Given the description of an element on the screen output the (x, y) to click on. 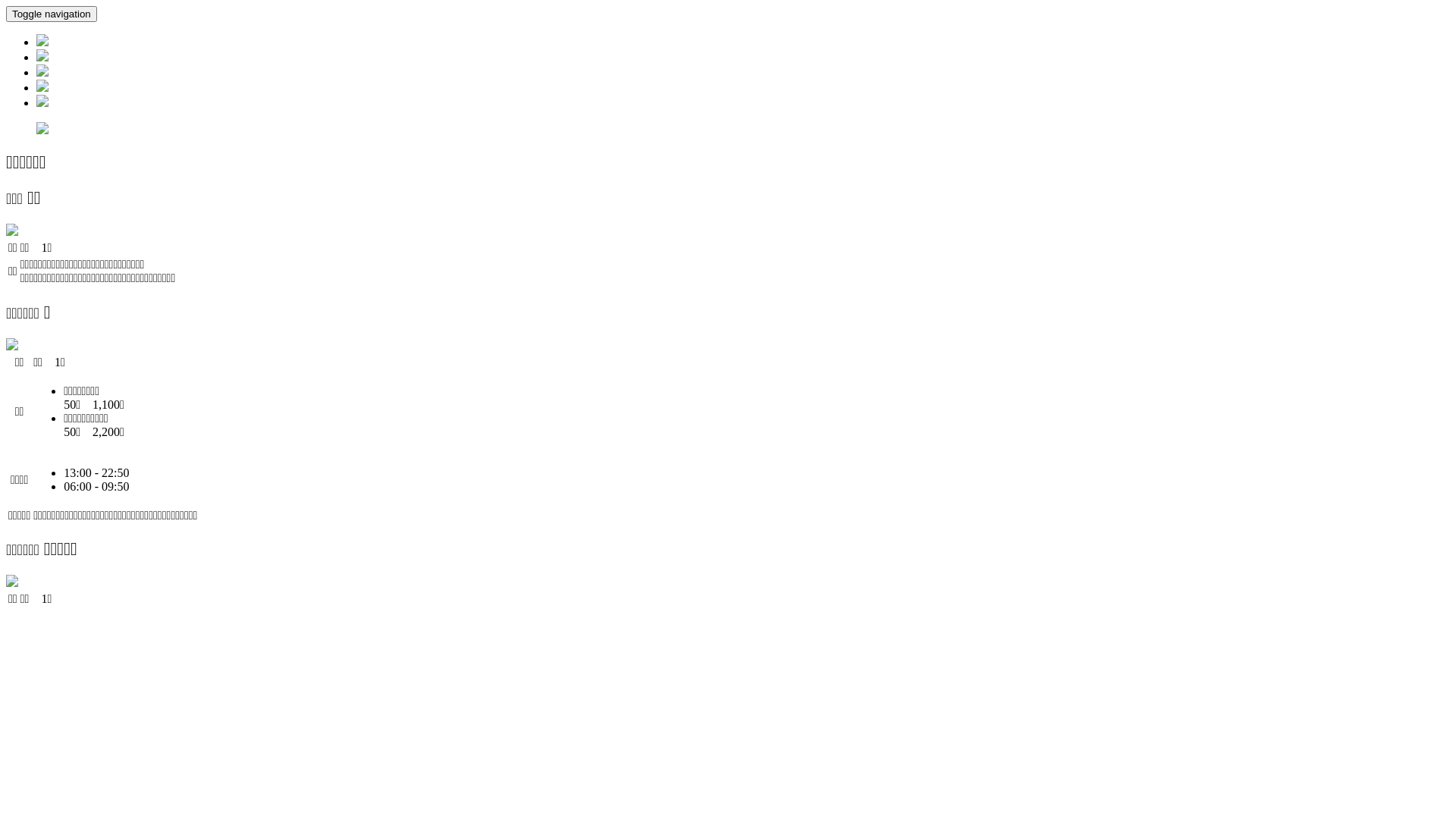
Toggle navigation Element type: text (51, 13)
